Given the description of an element on the screen output the (x, y) to click on. 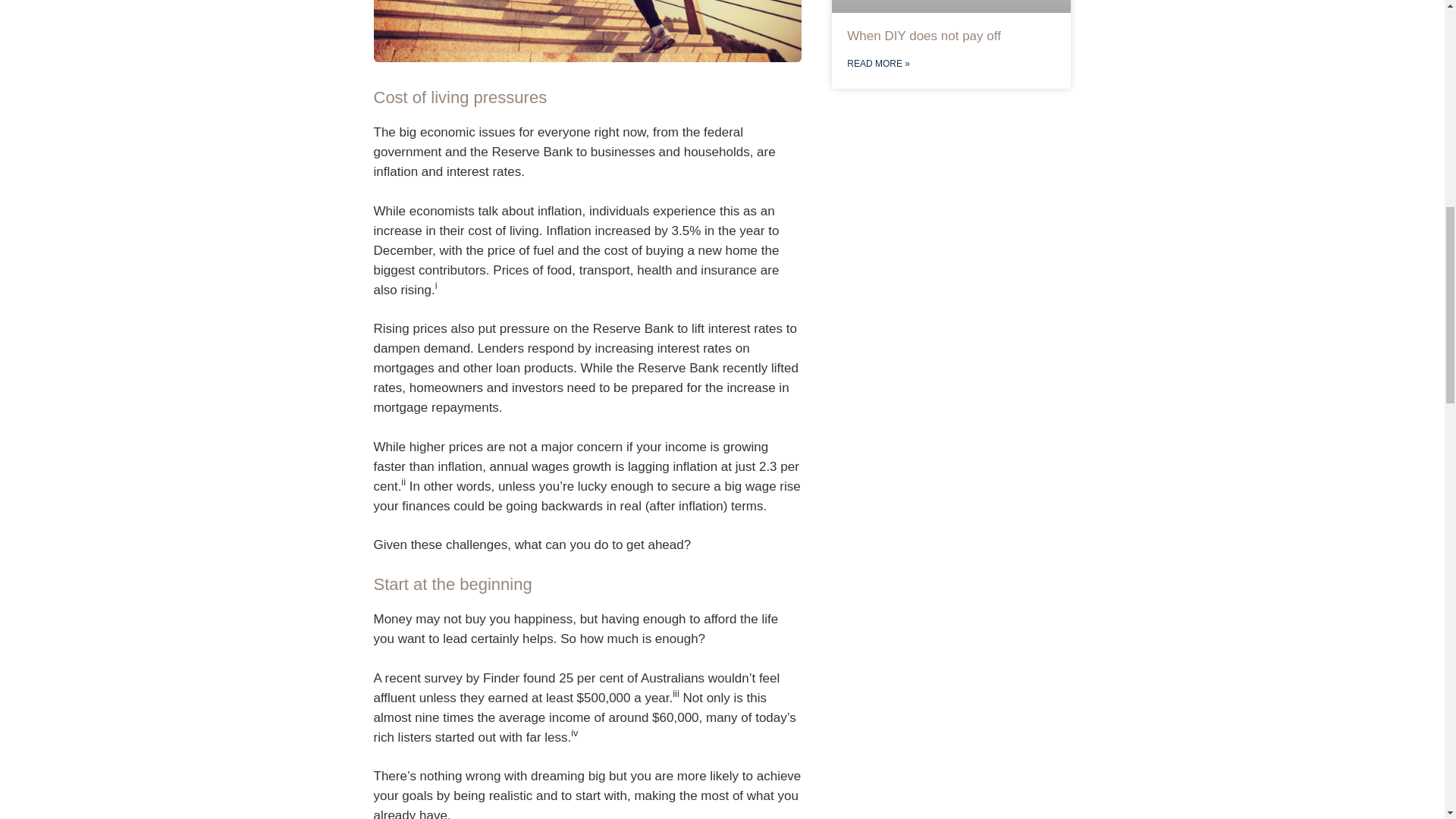
When DIY does not pay off (924, 35)
